Given the description of an element on the screen output the (x, y) to click on. 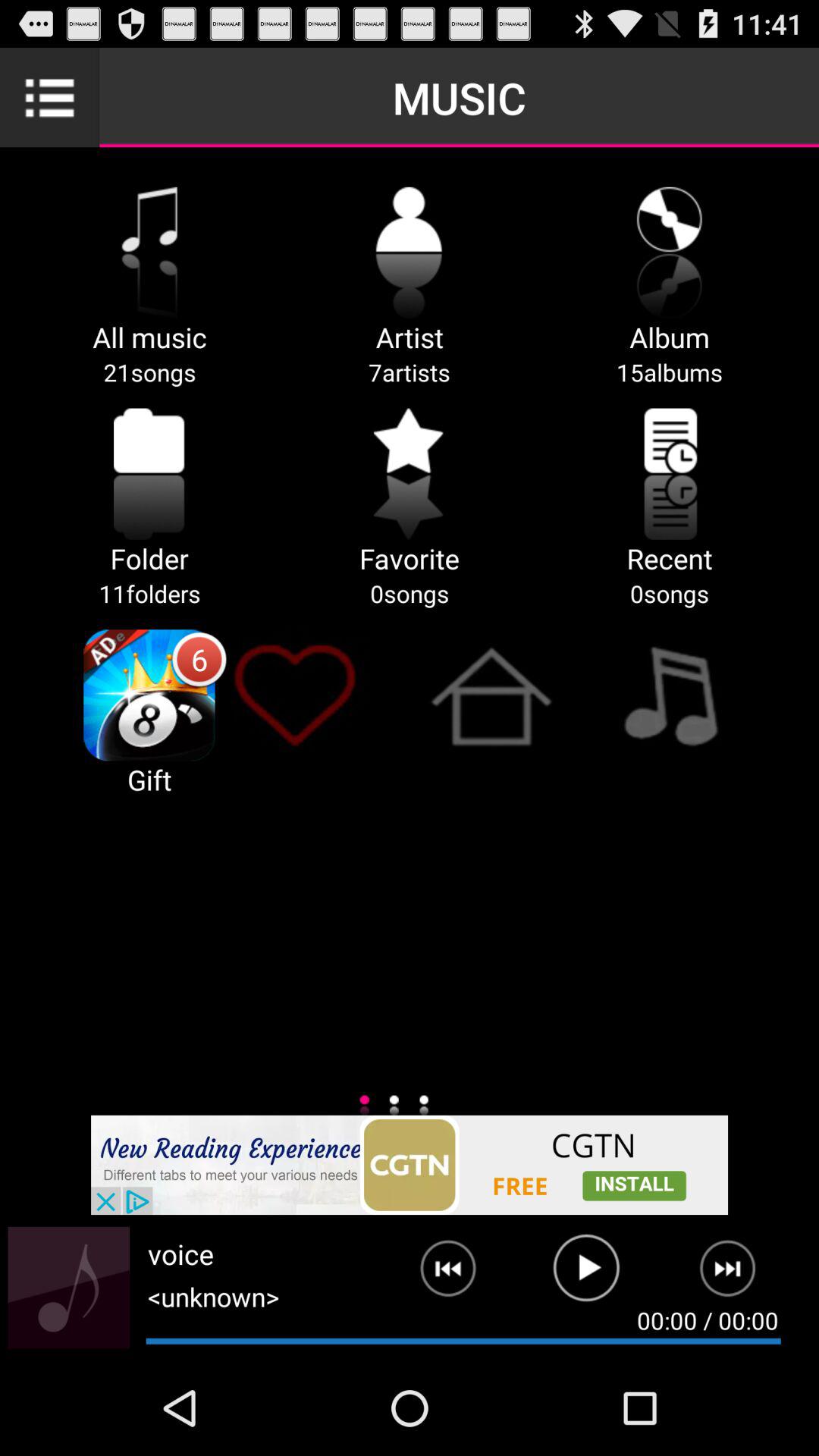
pause option (586, 1274)
